Given the description of an element on the screen output the (x, y) to click on. 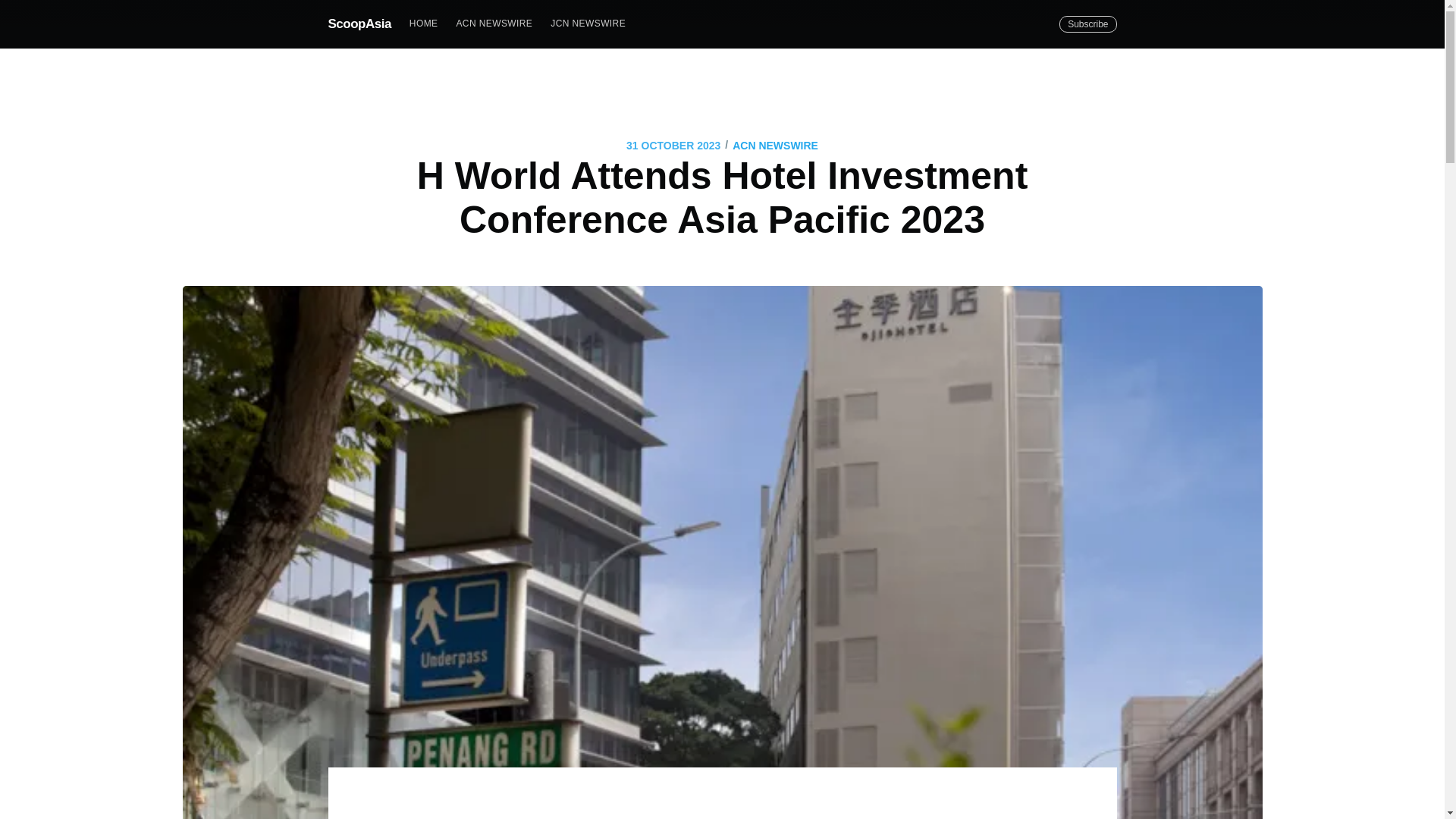
Subscribe (1087, 23)
HOME (423, 23)
ScoopAsia (358, 23)
ACN NEWSWIRE (775, 145)
ACN NEWSWIRE (493, 23)
JCN NEWSWIRE (587, 23)
